Given the description of an element on the screen output the (x, y) to click on. 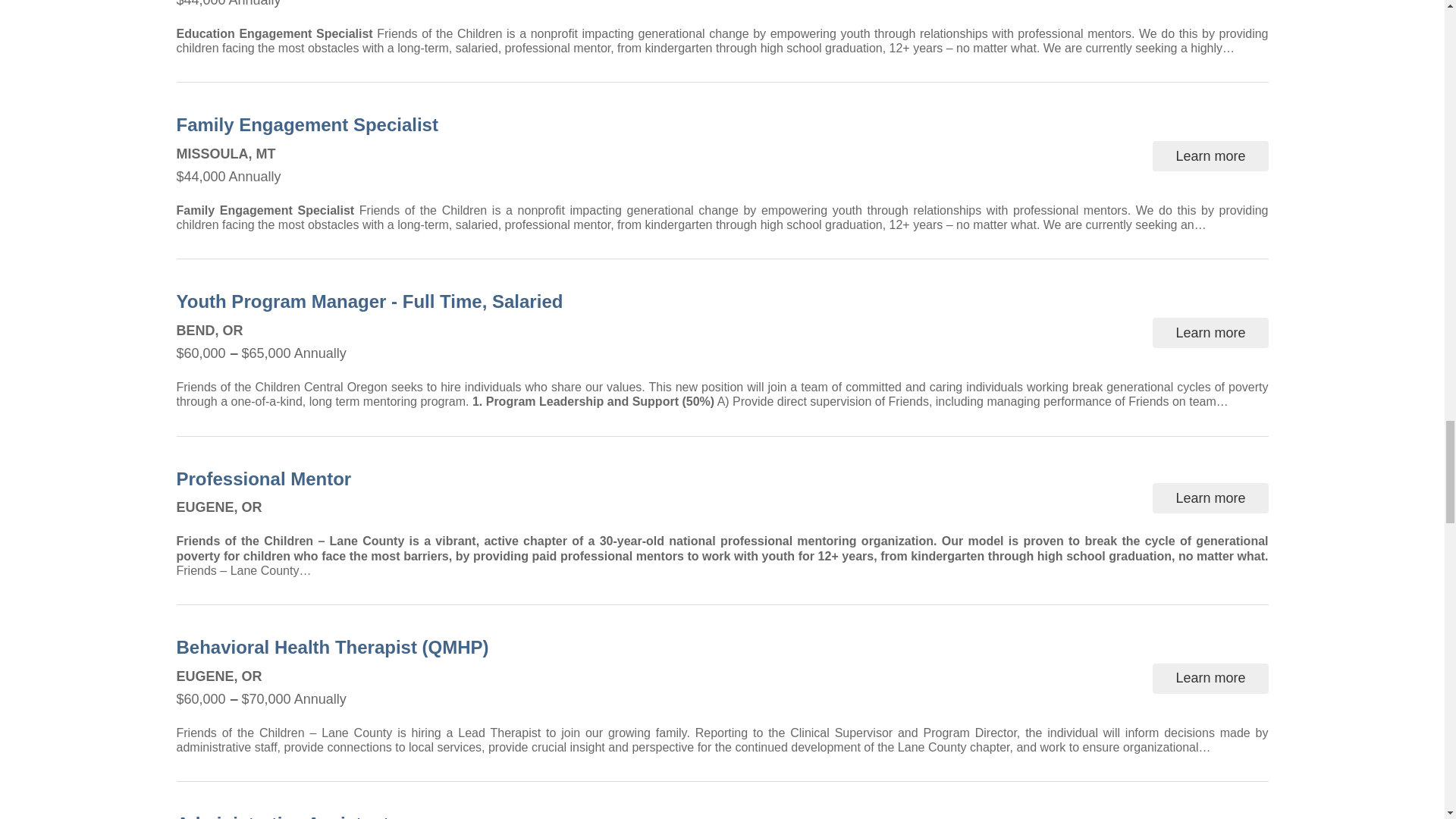
Family Engagement Specialist (312, 124)
Learn more (1210, 155)
Youth Program Manager - Full Time, Salaried (375, 301)
Professional Mentor (269, 479)
Learn more (1210, 332)
Learn more (1210, 498)
